Given the description of an element on the screen output the (x, y) to click on. 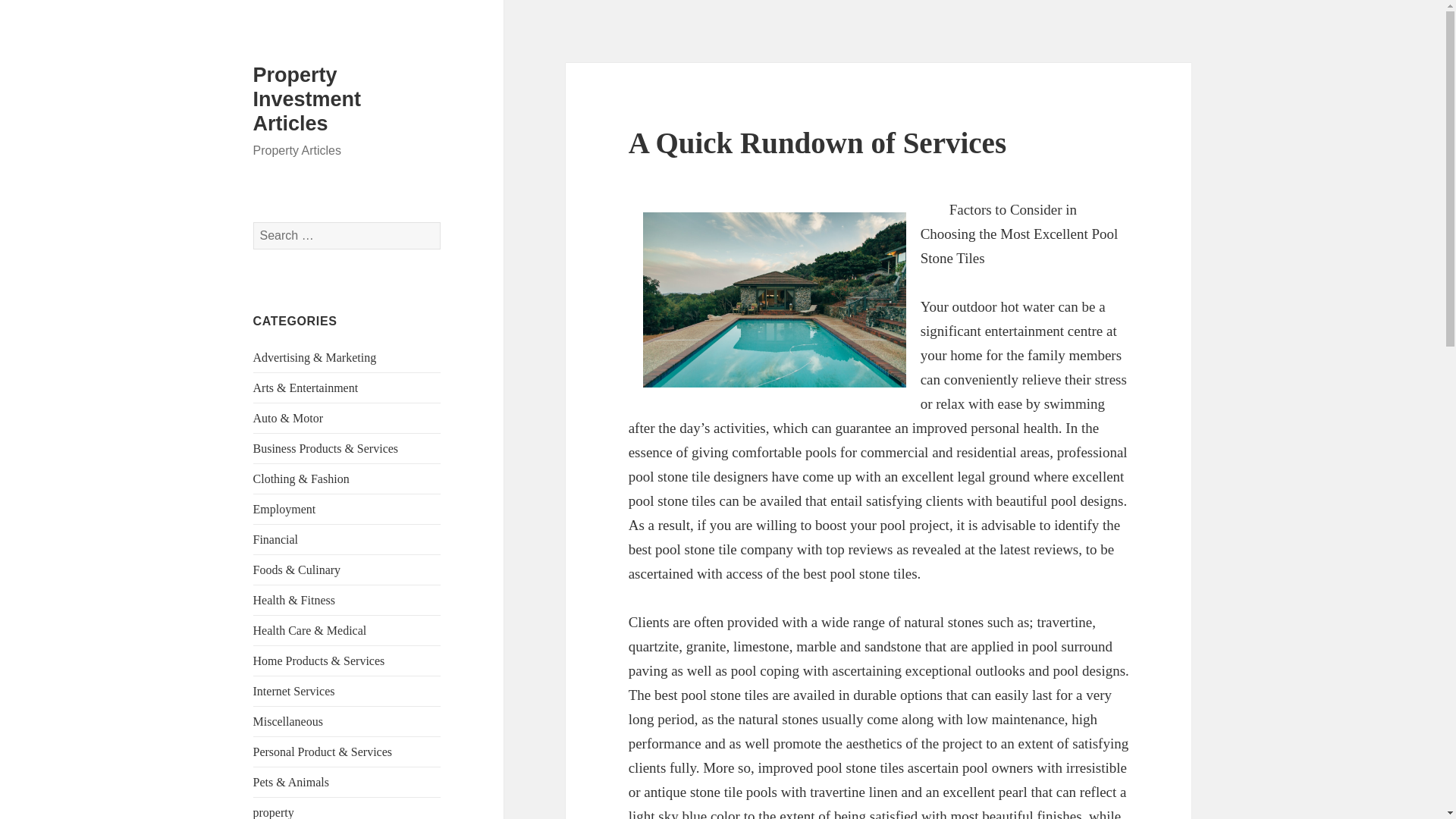
Internet Services (293, 690)
Financial (275, 539)
Employment (284, 508)
Miscellaneous (288, 721)
Property Investment Articles (307, 99)
property (273, 812)
